Given the description of an element on the screen output the (x, y) to click on. 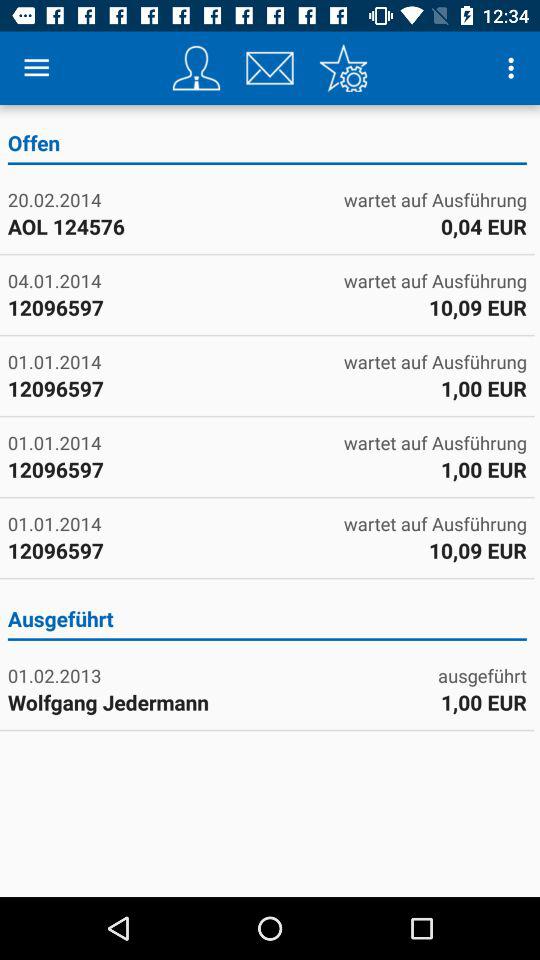
turn off offen item (266, 146)
